Given the description of an element on the screen output the (x, y) to click on. 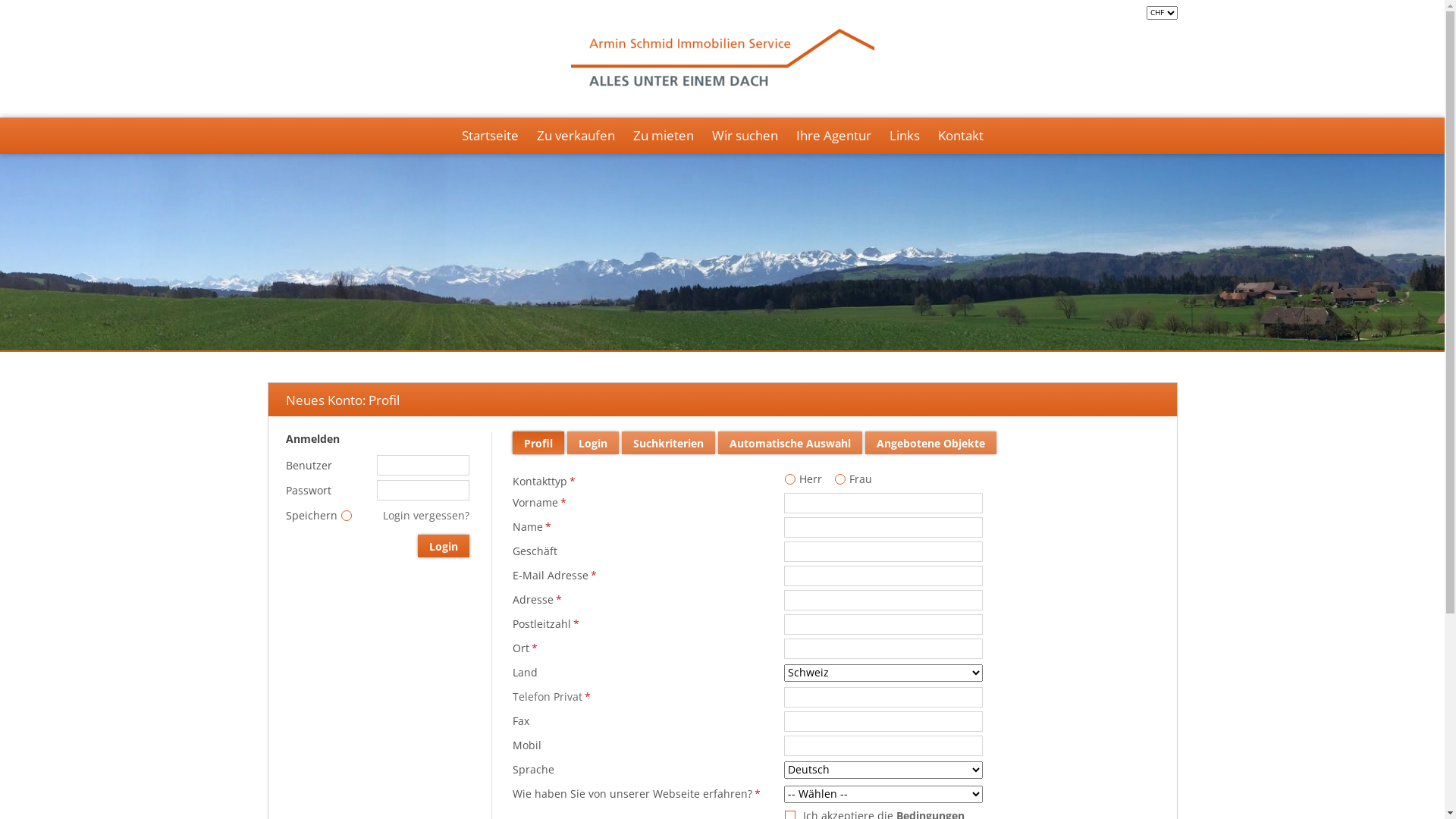
Startseite Element type: text (489, 135)
Zu verkaufen Element type: text (575, 135)
Zu mieten Element type: text (662, 135)
Login Element type: text (443, 545)
Kontakt Element type: text (959, 135)
Profil Element type: text (538, 442)
Links Element type: text (903, 135)
submit Element type: text (19, 8)
Login vergessen? Element type: text (425, 515)
Telefon Privat* Element type: text (551, 695)
Wir suchen Element type: text (744, 135)
